Given the description of an element on the screen output the (x, y) to click on. 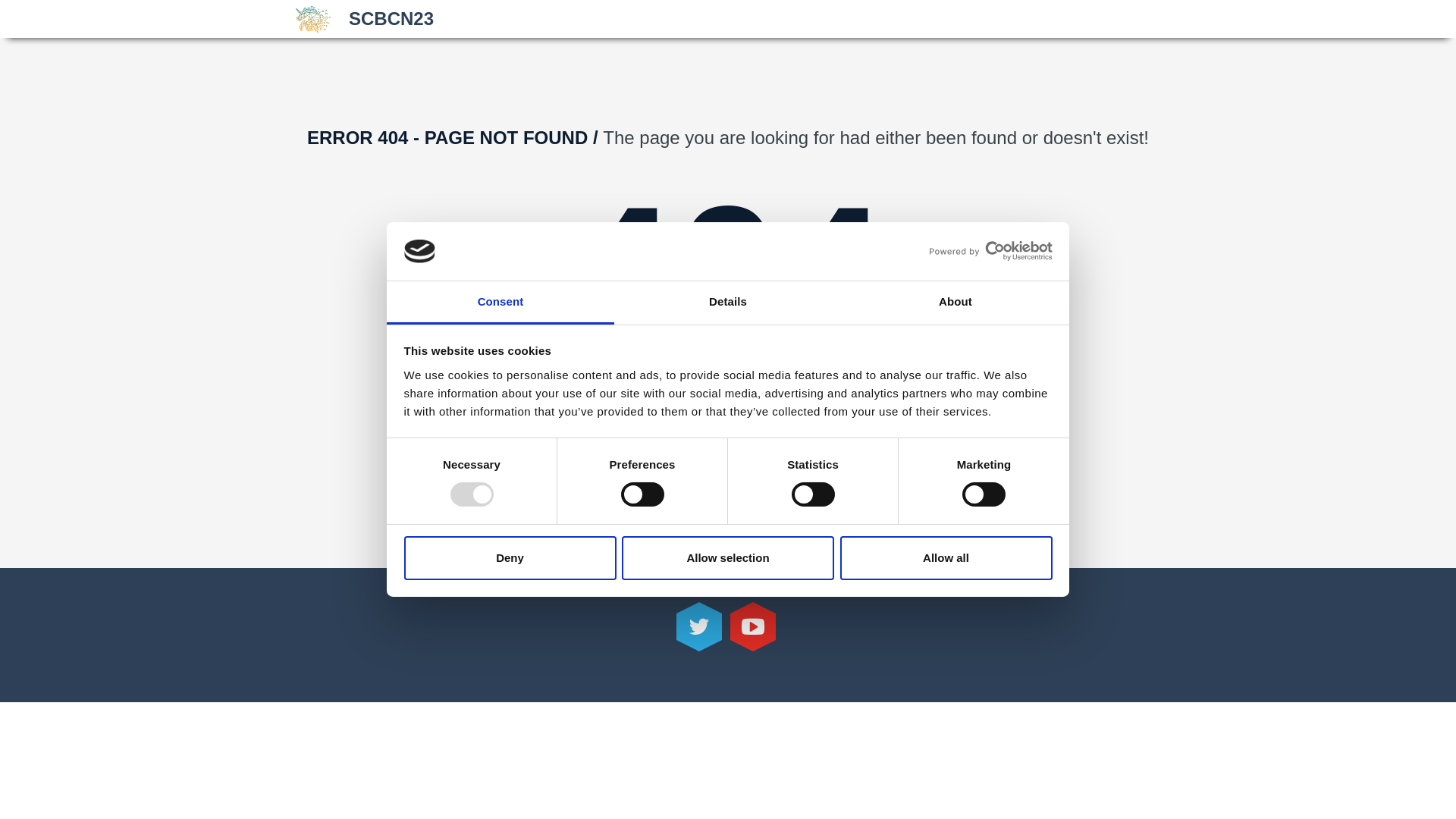
Deny Element type: text (509, 558)
SCBCN23 Element type: text (364, 19)
GO TO HOME Element type: text (728, 449)
About Element type: text (955, 302)
Details Element type: text (727, 302)
Consent Element type: text (500, 302)
Allow all Element type: text (946, 558)
Allow selection Element type: text (727, 558)
